Given the description of an element on the screen output the (x, y) to click on. 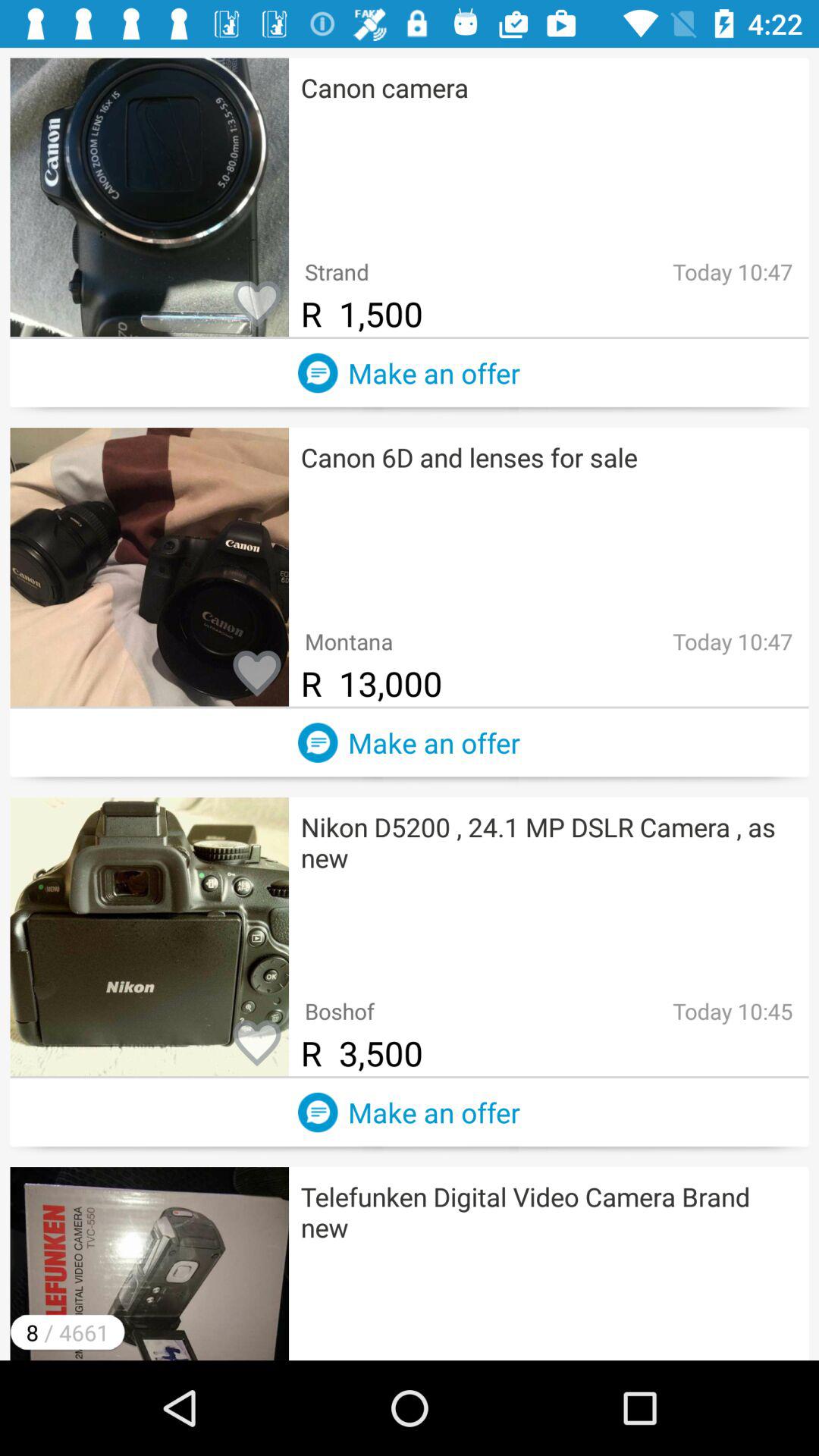
add to favorites (256, 674)
